Given the description of an element on the screen output the (x, y) to click on. 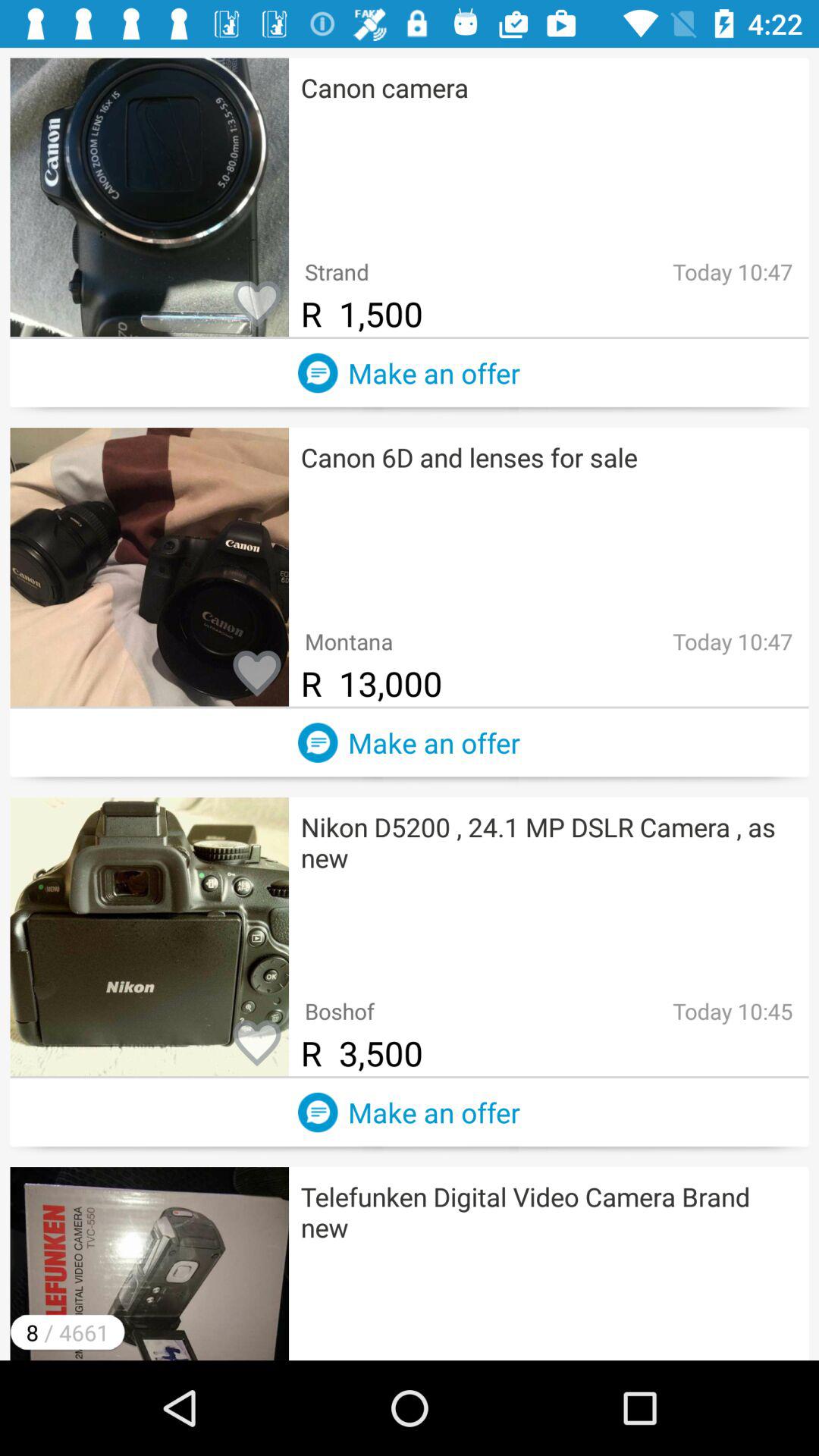
add to favorites (256, 674)
